Given the description of an element on the screen output the (x, y) to click on. 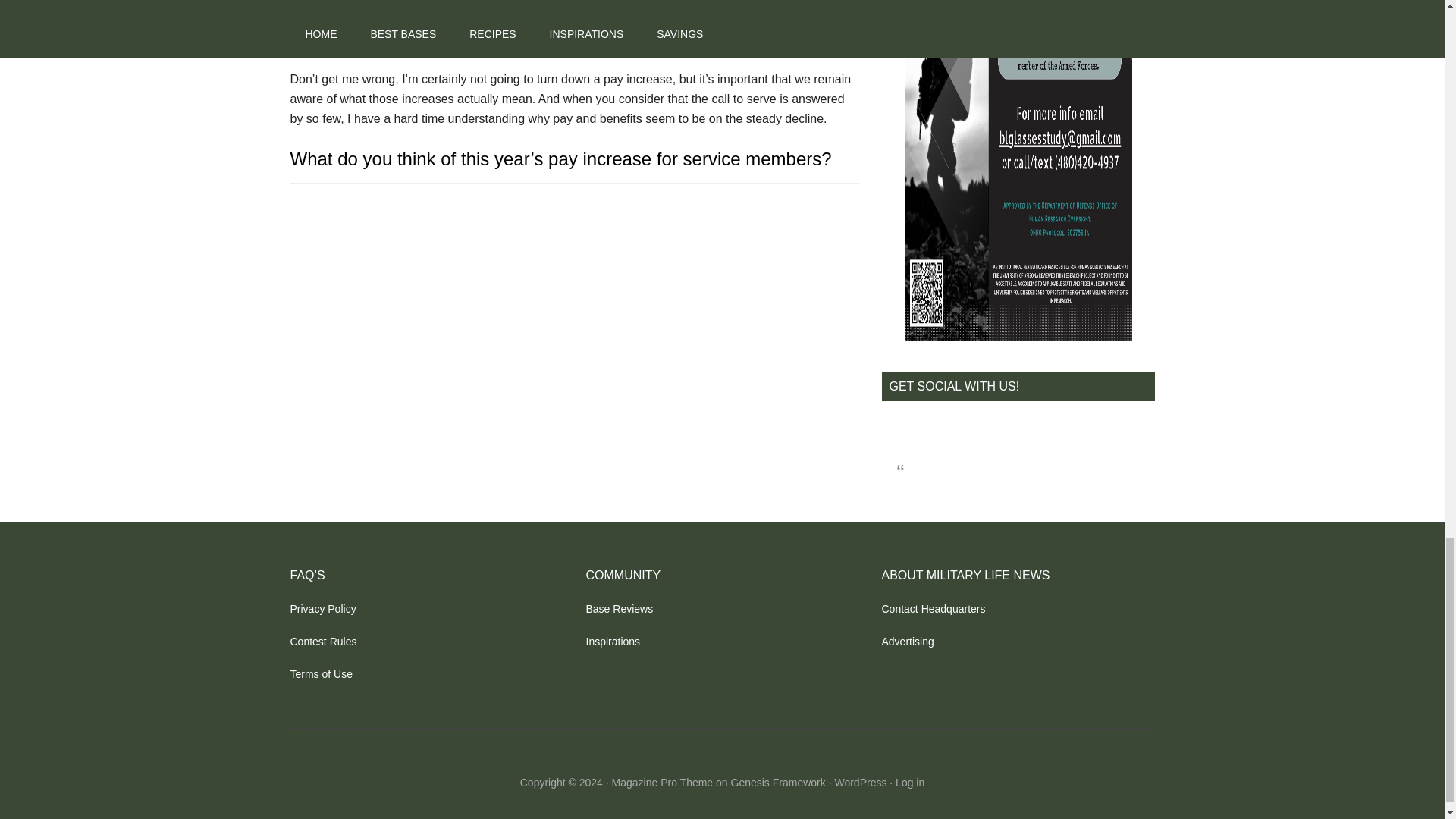
Privacy Policy (322, 608)
Contest Rules (322, 641)
Terms of Use (320, 674)
Tricare (442, 19)
